Given the description of an element on the screen output the (x, y) to click on. 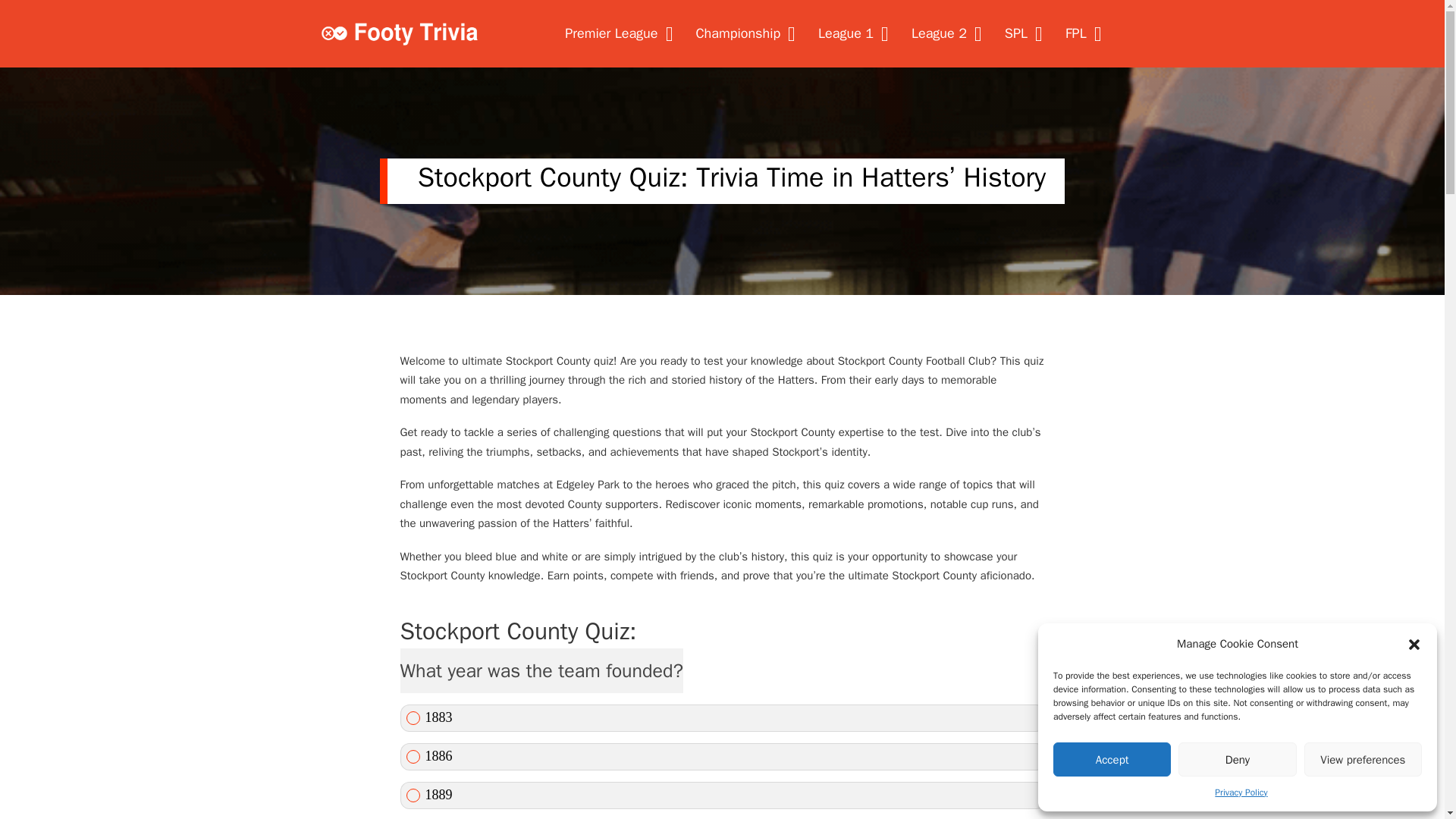
View preferences (1363, 759)
Deny (1236, 759)
Accept (1111, 759)
Privacy Policy (1240, 792)
